Given the description of an element on the screen output the (x, y) to click on. 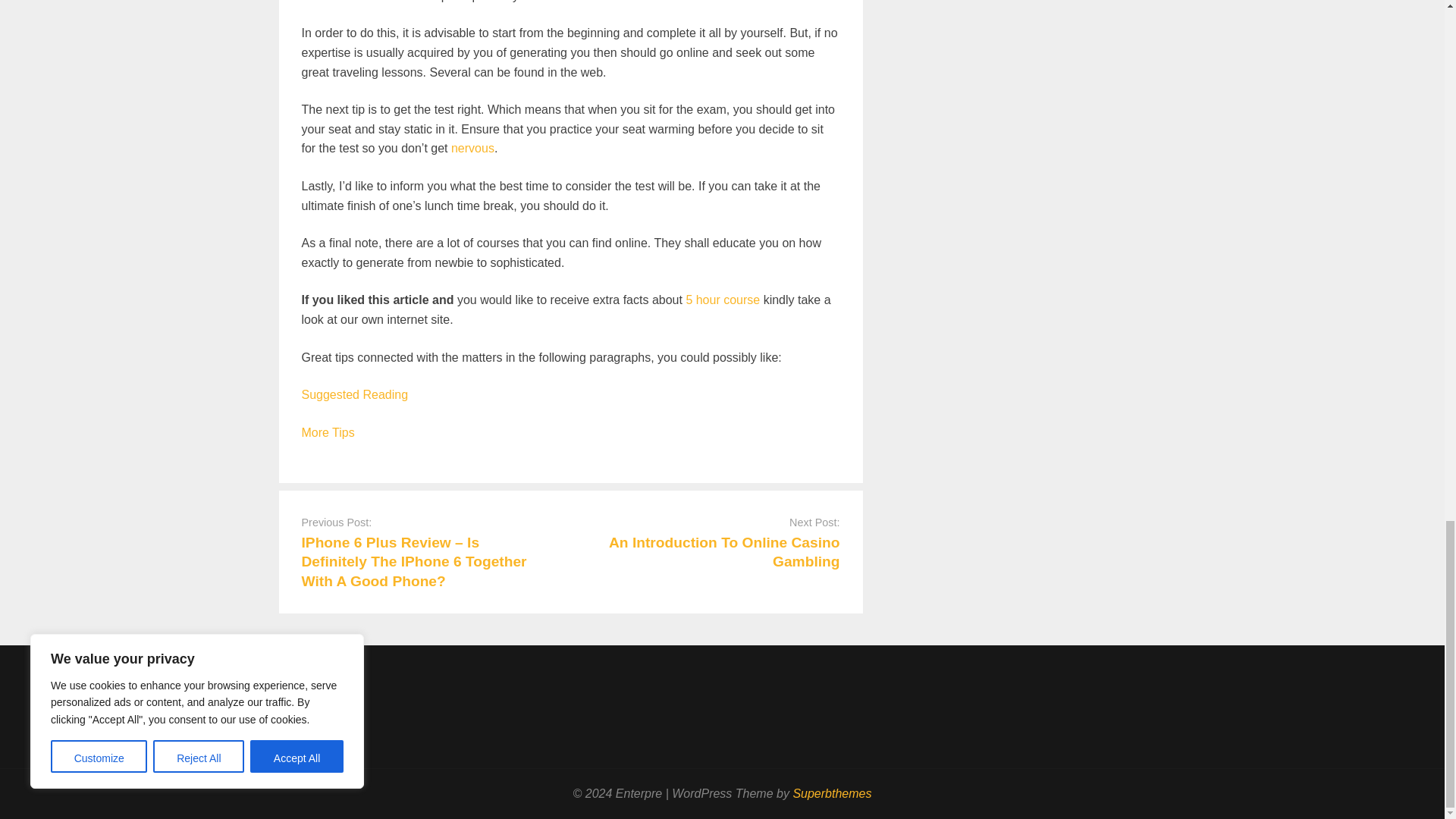
Suggested Reading (355, 394)
An Introduction To Online Casino Gambling (724, 551)
More Tips (328, 431)
nervous (473, 147)
5 hour course (722, 299)
